Given the description of an element on the screen output the (x, y) to click on. 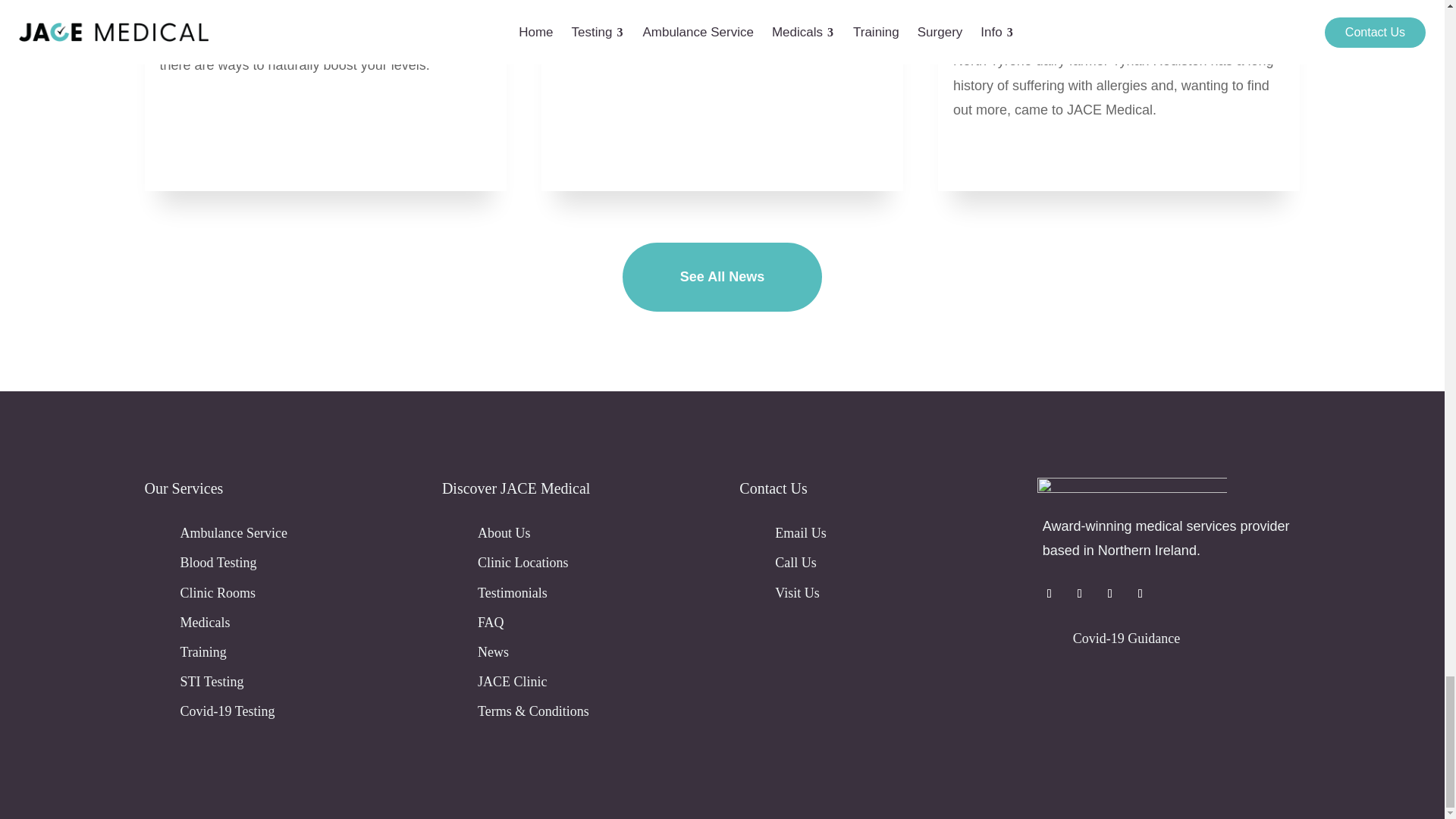
Follow on X (1079, 593)
Follow on Instagram (1109, 593)
Follow on Facebook (1048, 593)
Follow on LinkedIn (1140, 593)
